Given the description of an element on the screen output the (x, y) to click on. 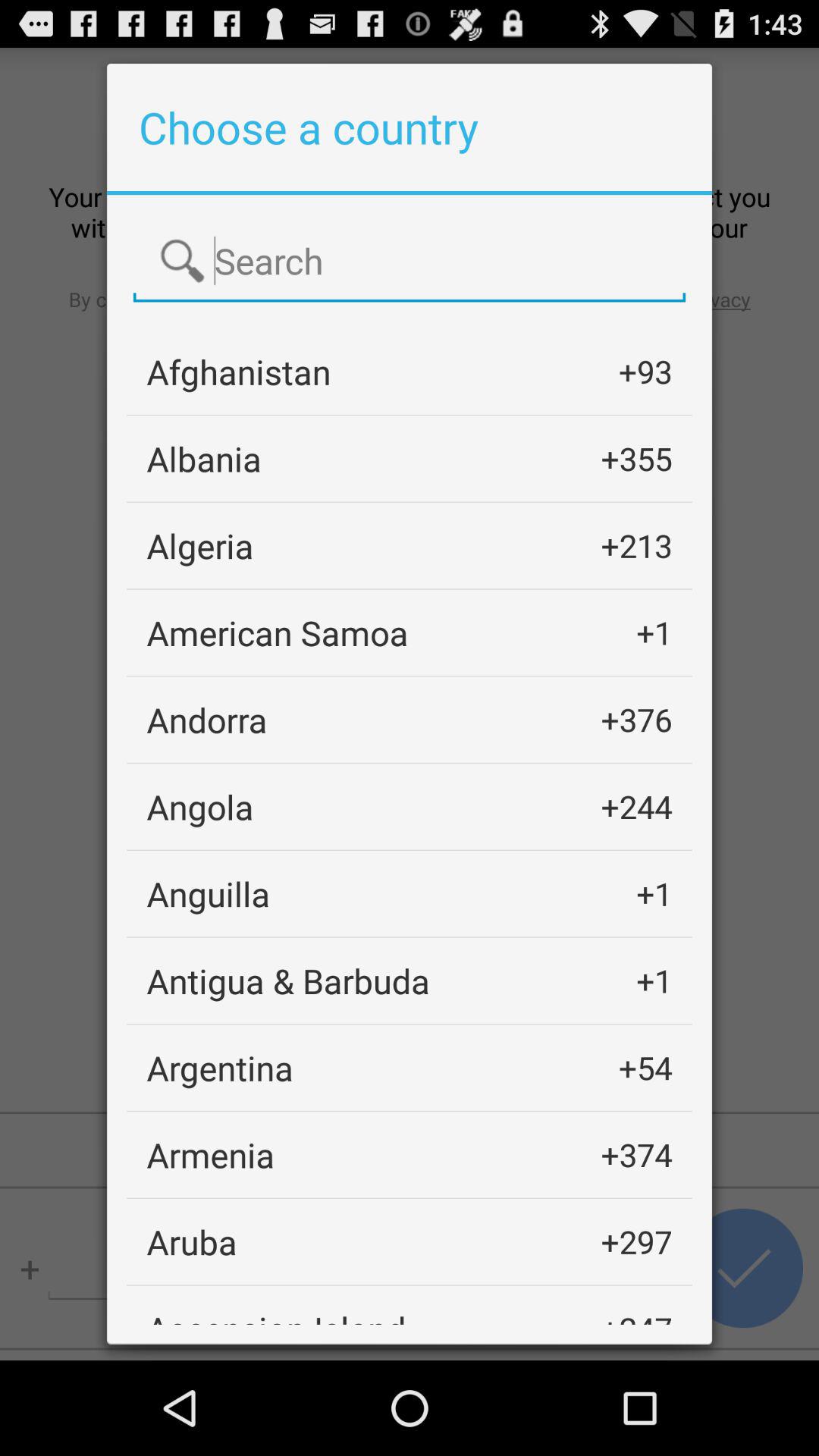
turn off icon above +213 app (636, 458)
